Given the description of an element on the screen output the (x, y) to click on. 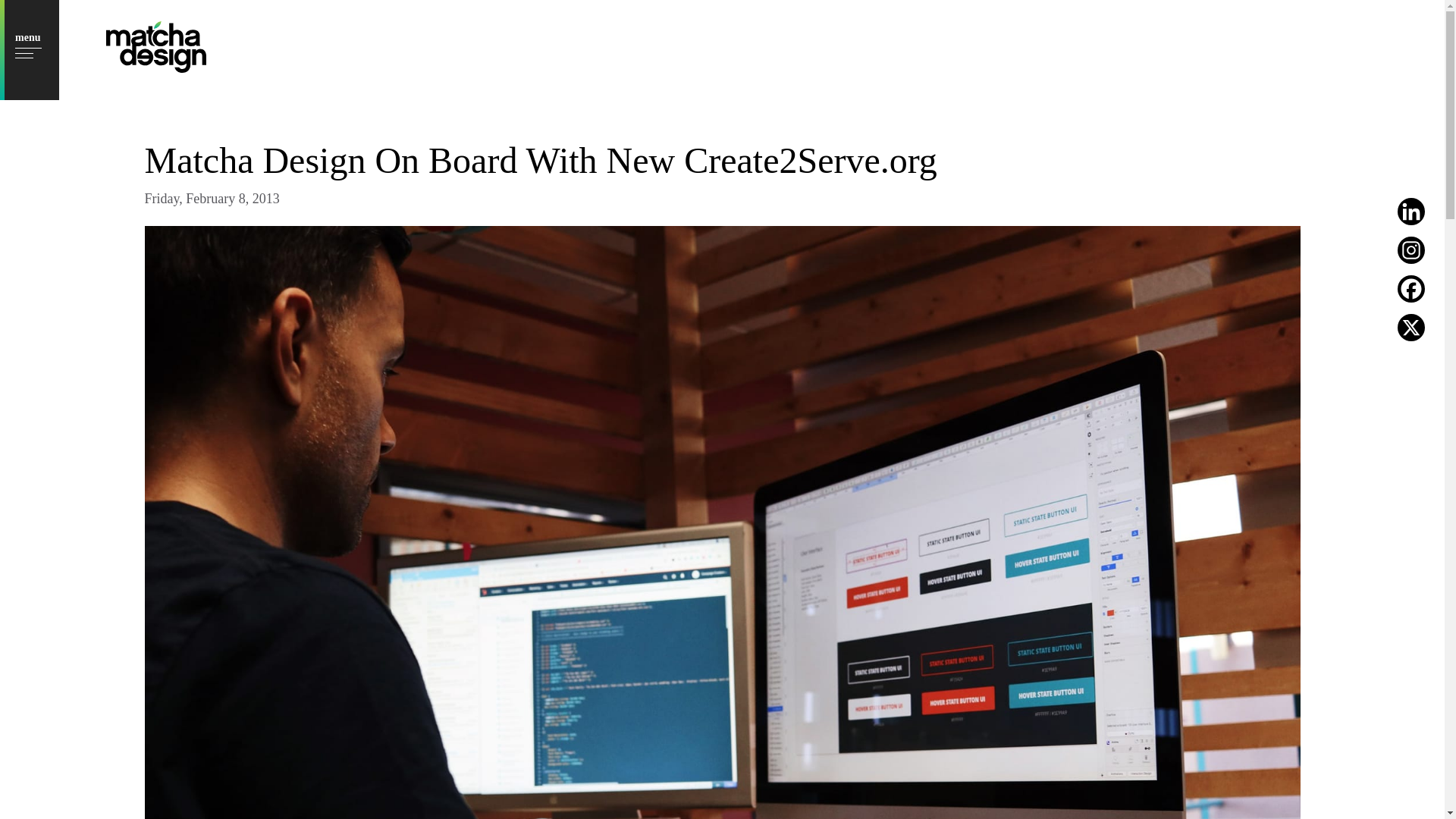
X (1411, 327)
Linkedin (1411, 211)
Instagram (1411, 249)
Facebook (1411, 288)
